Given the description of an element on the screen output the (x, y) to click on. 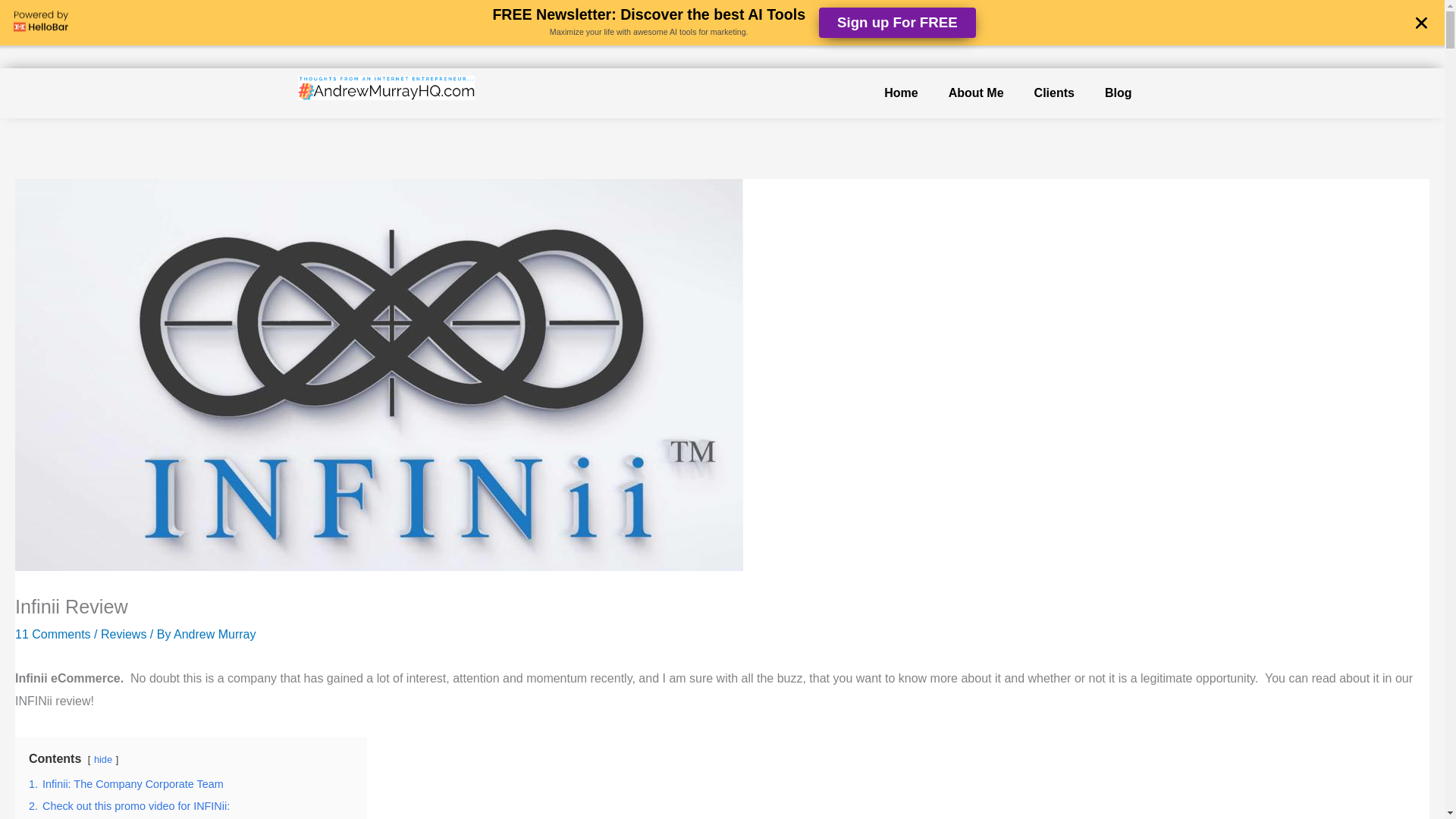
About Me (976, 93)
Clients (1054, 93)
11 Comments (52, 634)
View all posts by Andrew Murray (214, 634)
Reviews (123, 634)
2. Check out this promo video for INFINii: (129, 806)
Blog (1118, 93)
1. Infinii: The Company Corporate Team (126, 784)
hide (103, 758)
Andrew Murray (214, 634)
Home (901, 93)
